Given the description of an element on the screen output the (x, y) to click on. 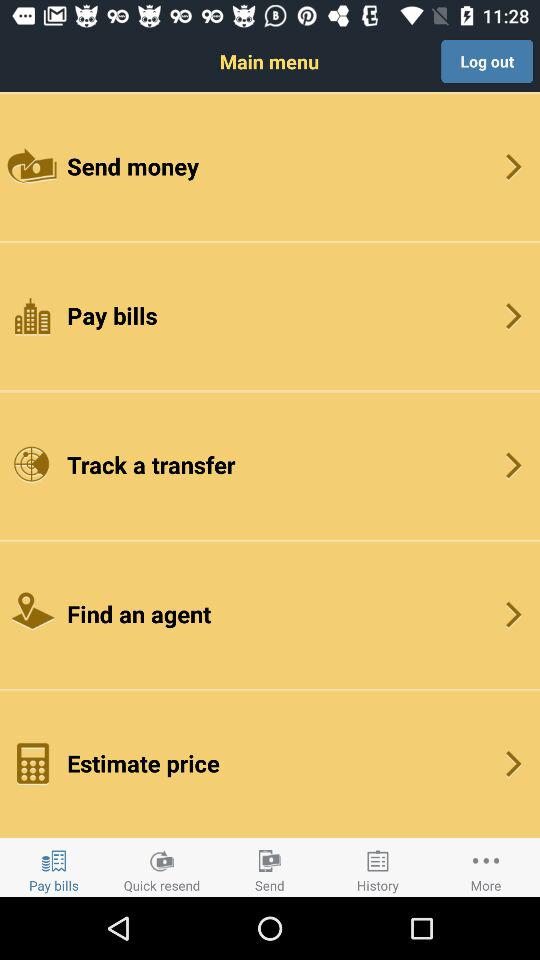
launch item to the right of the main menu icon (487, 61)
